Given the description of an element on the screen output the (x, y) to click on. 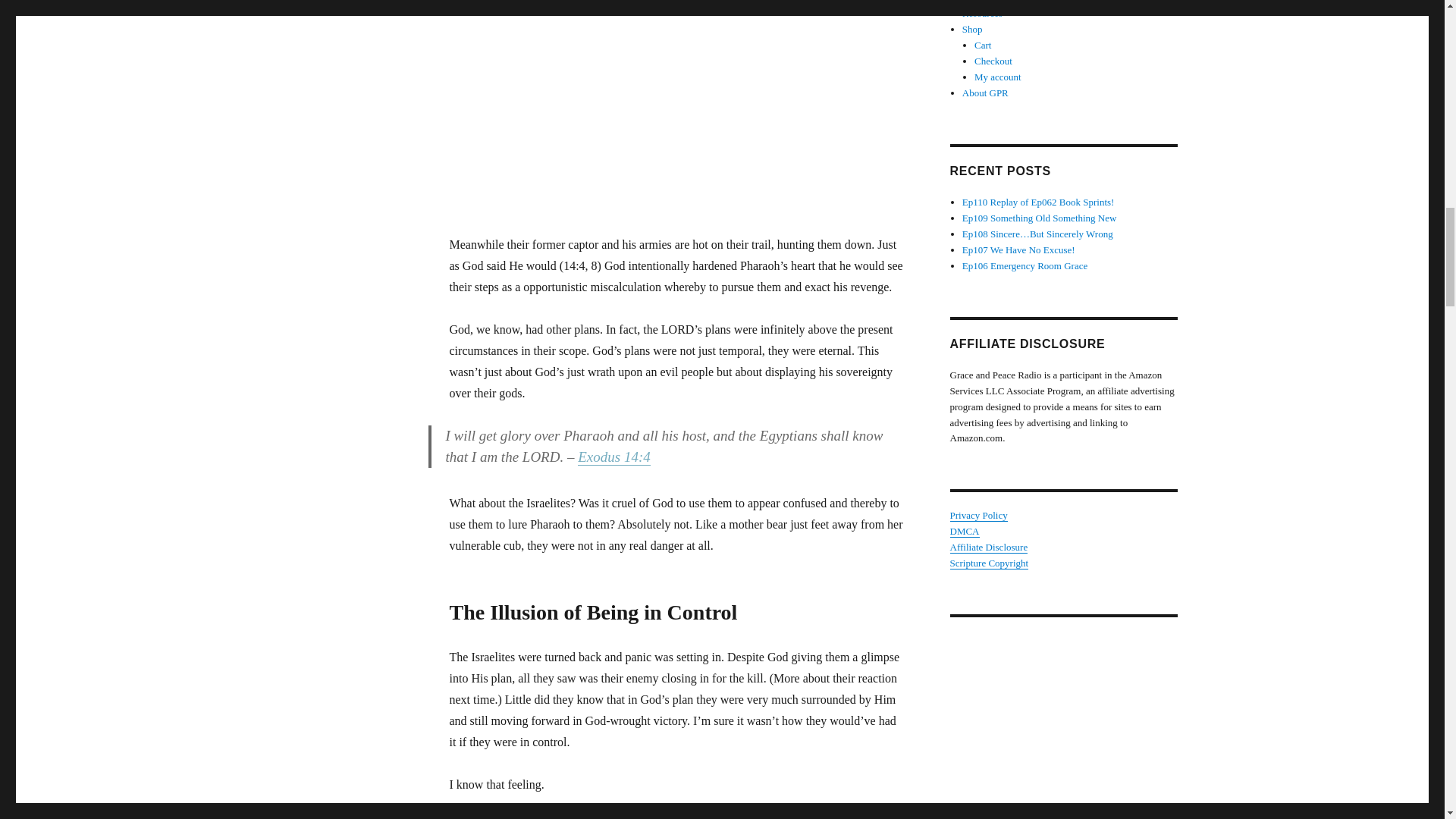
Exodus 14:4 (614, 456)
